Given the description of an element on the screen output the (x, y) to click on. 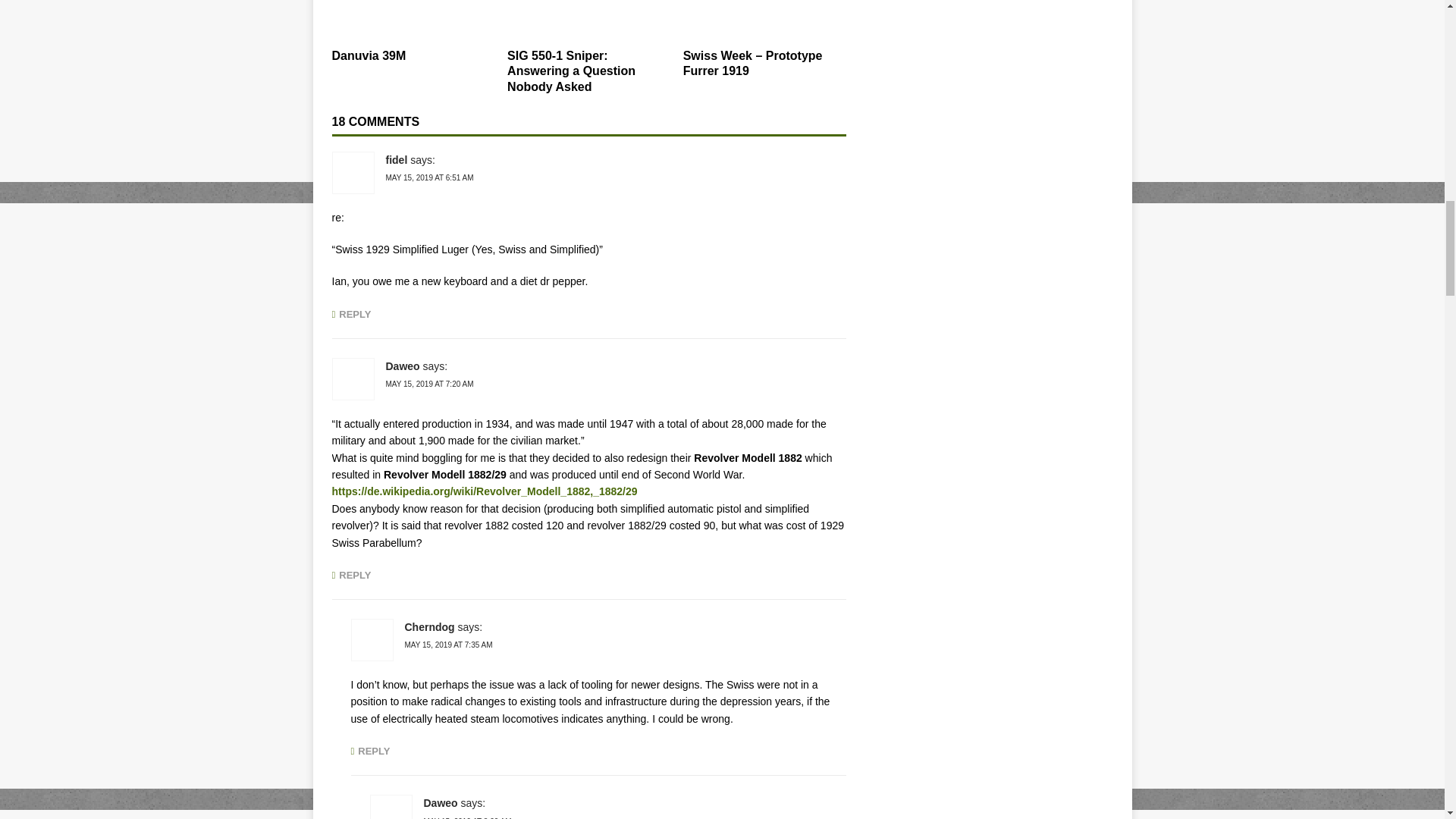
Danuvia 39M (368, 54)
Danuvia 39M (413, 20)
